Given the description of an element on the screen output the (x, y) to click on. 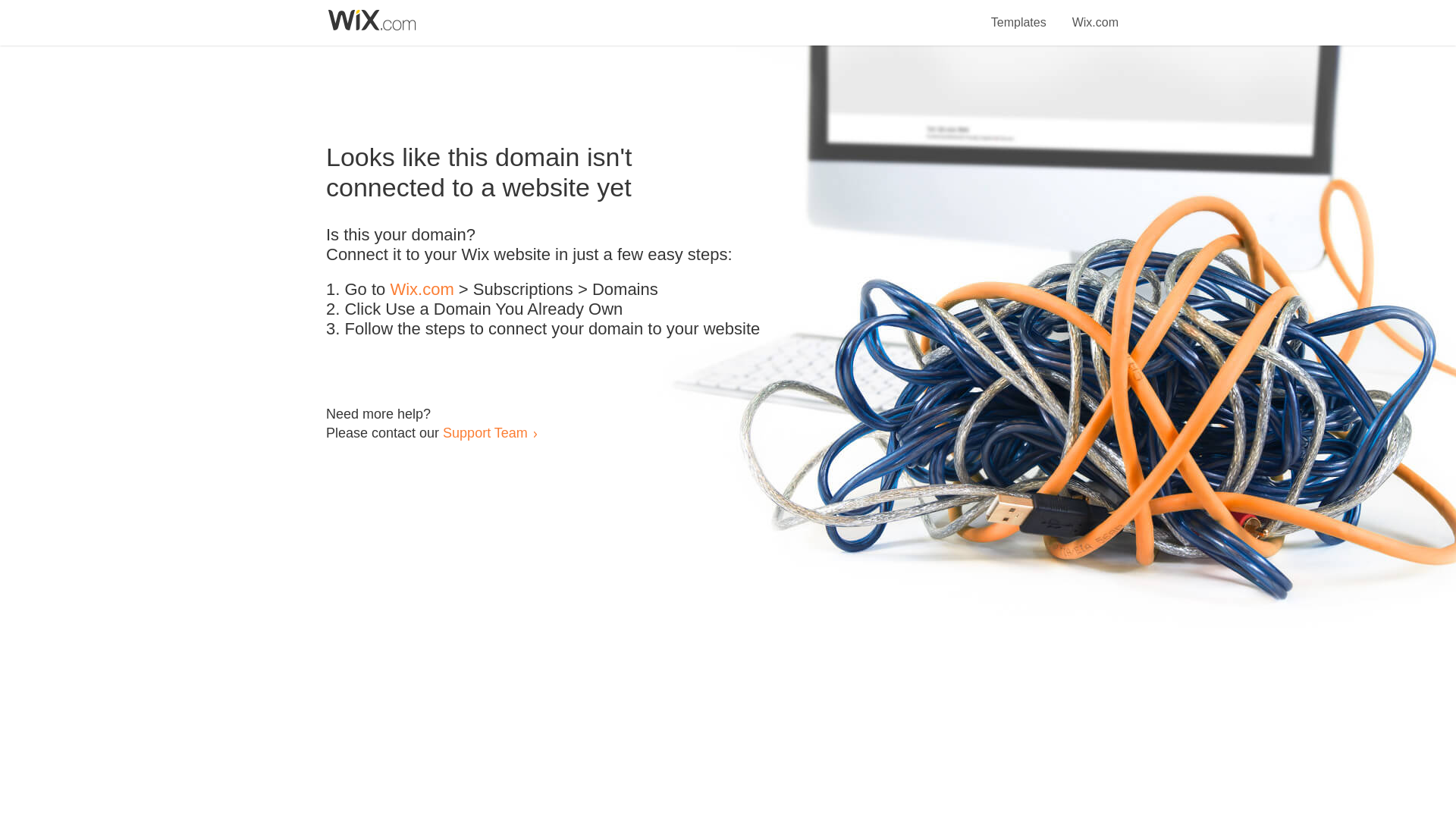
Templates (1018, 14)
Support Team (484, 432)
Wix.com (421, 289)
Wix.com (1095, 14)
